Given the description of an element on the screen output the (x, y) to click on. 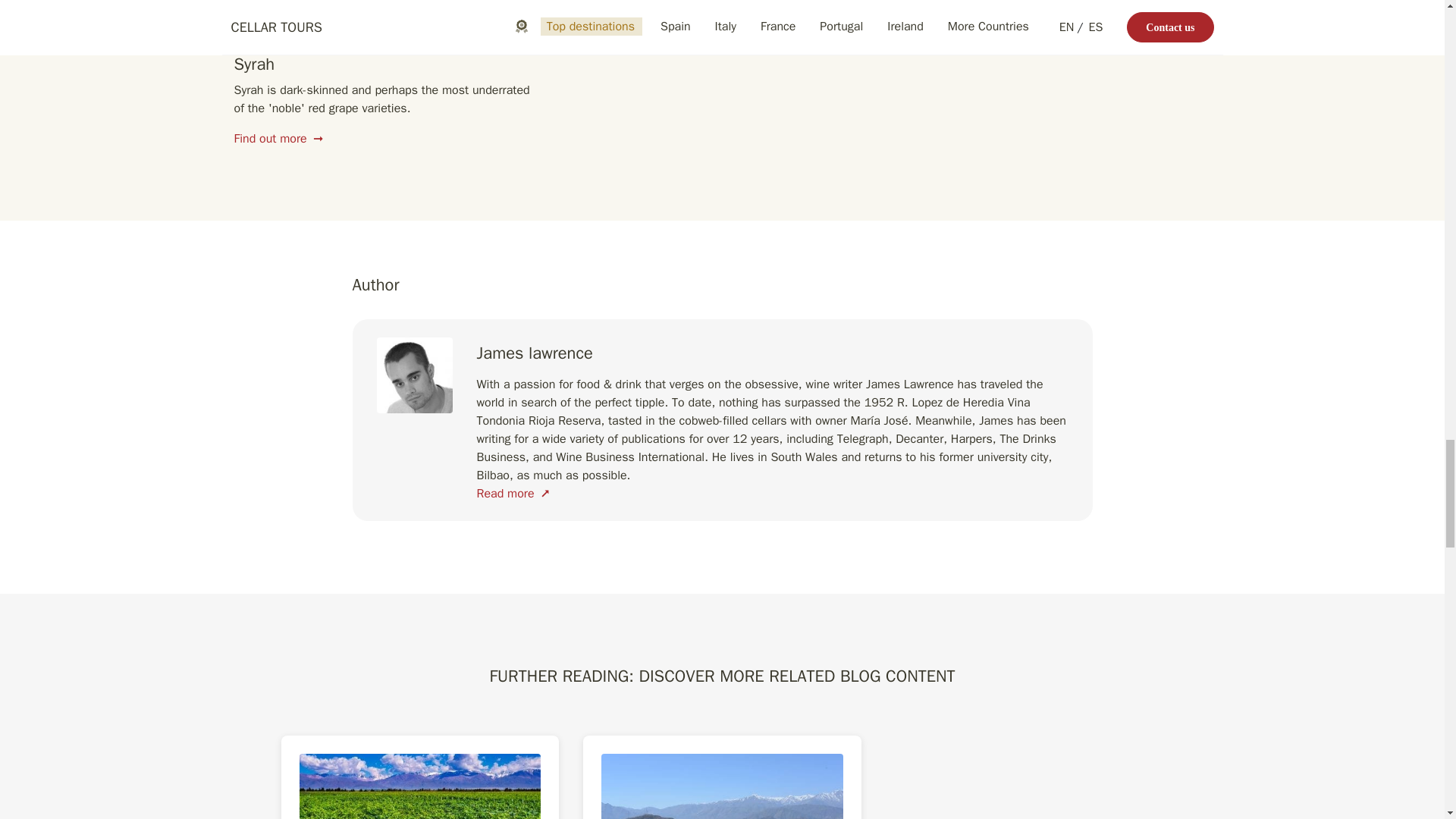
The Top Icon Wines of Chile (722, 777)
